Given the description of an element on the screen output the (x, y) to click on. 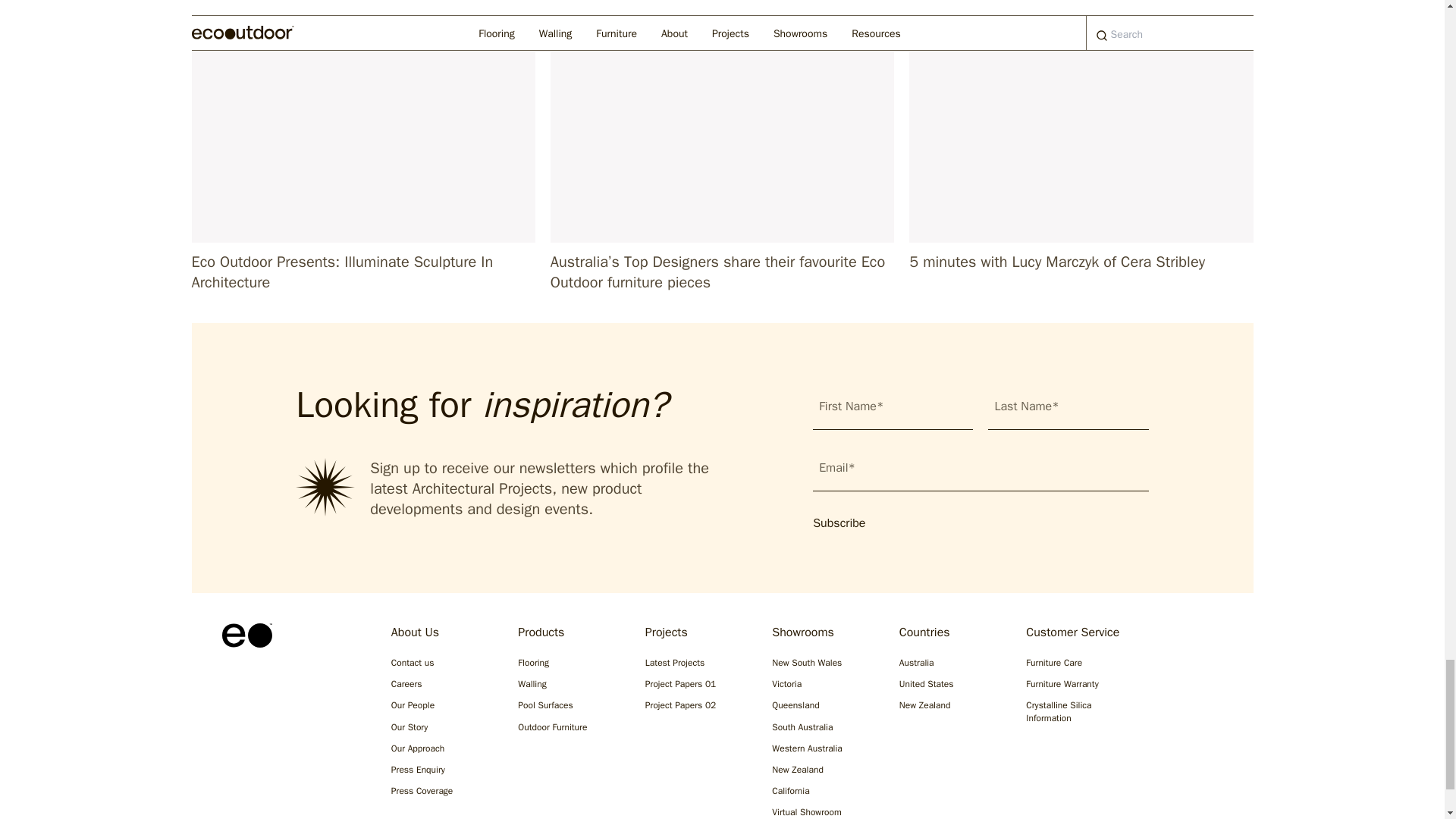
Csa Lucy 01 (1080, 121)
221107 ECO OUTDOOR DAY2 452 (362, 121)
MiniLogo.svg (245, 635)
Designers Outdoor Furniture E1573084658970 (721, 121)
